Given the description of an element on the screen output the (x, y) to click on. 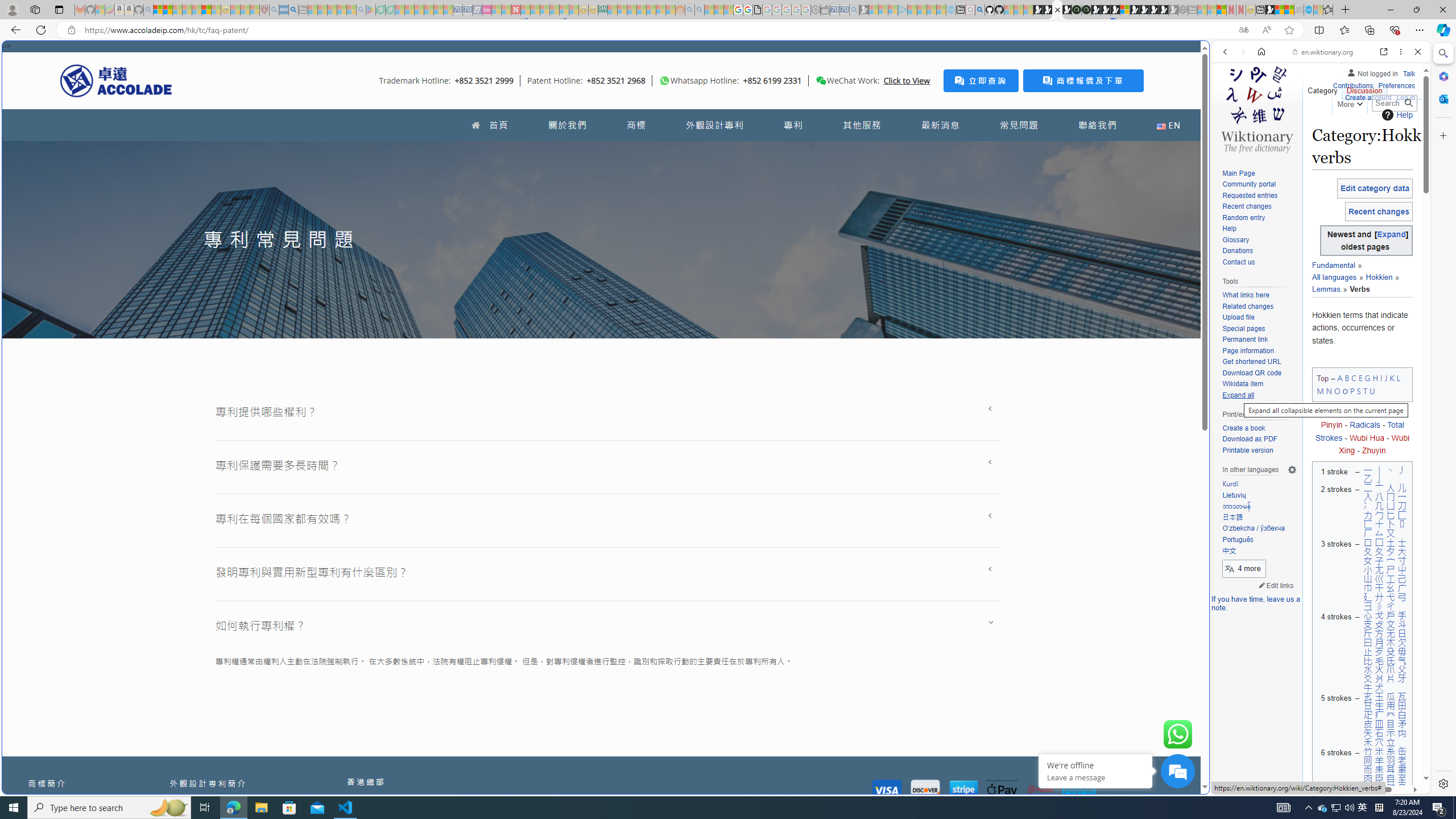
Recent changes (1259, 206)
Create a book (1243, 427)
